Given the description of an element on the screen output the (x, y) to click on. 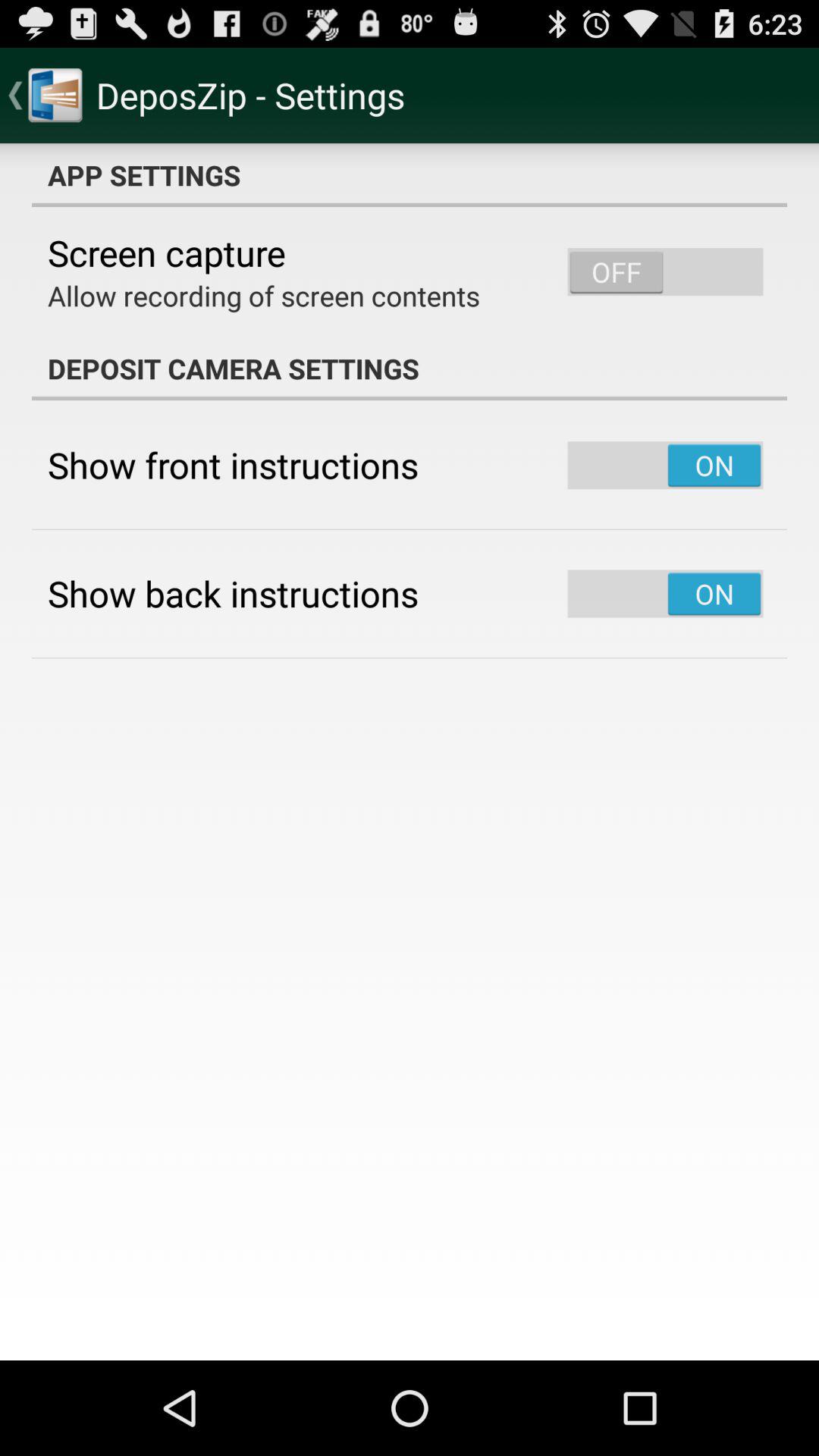
turn off item above the deposit camera settings app (263, 295)
